Given the description of an element on the screen output the (x, y) to click on. 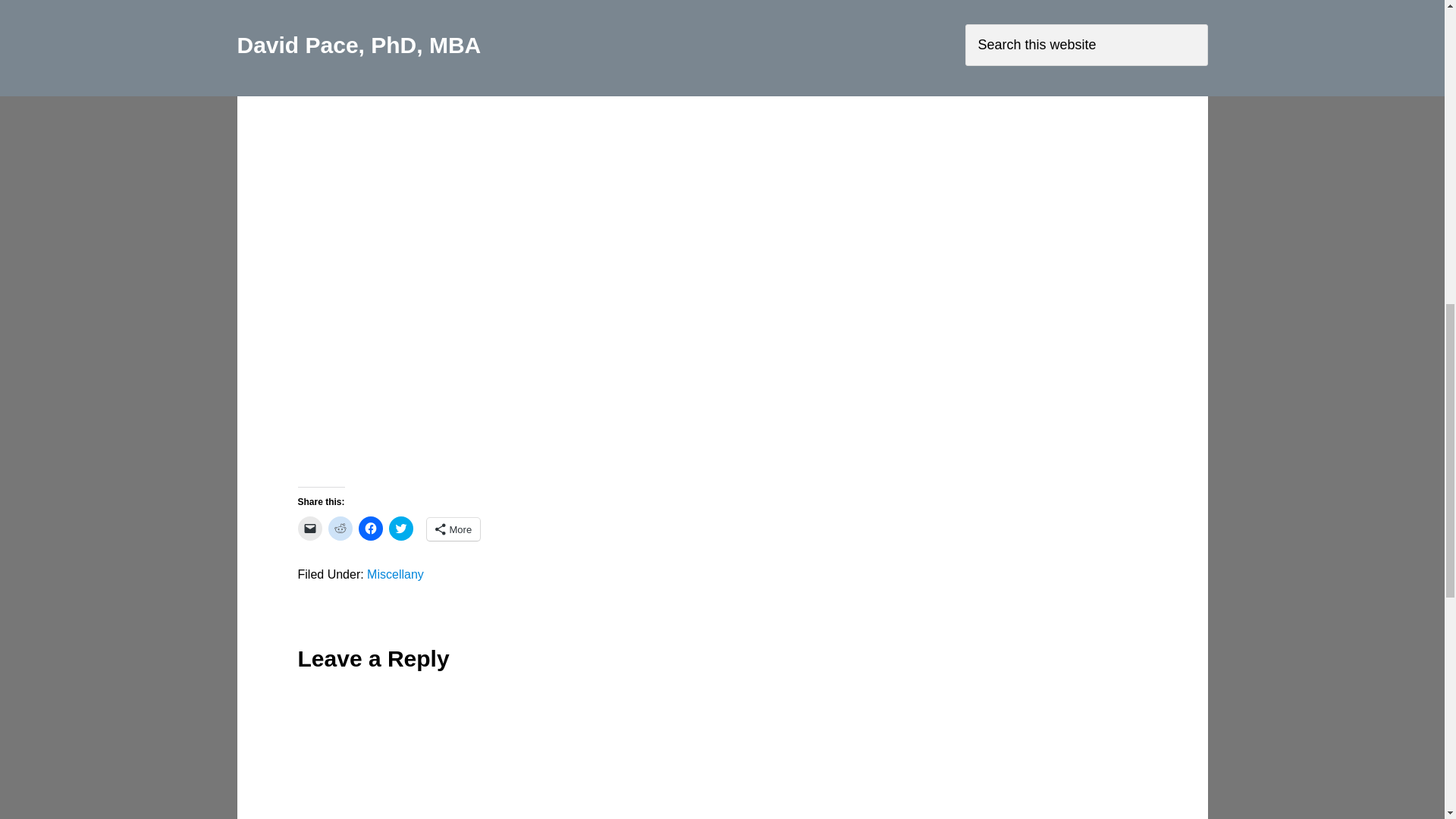
Click to email a link to a friend (309, 528)
Miscellany (394, 574)
Click to share on Facebook (369, 528)
Click to share on Reddit (339, 528)
More (453, 528)
Click to share on Twitter (400, 528)
Comment Form (722, 749)
